Given the description of an element on the screen output the (x, y) to click on. 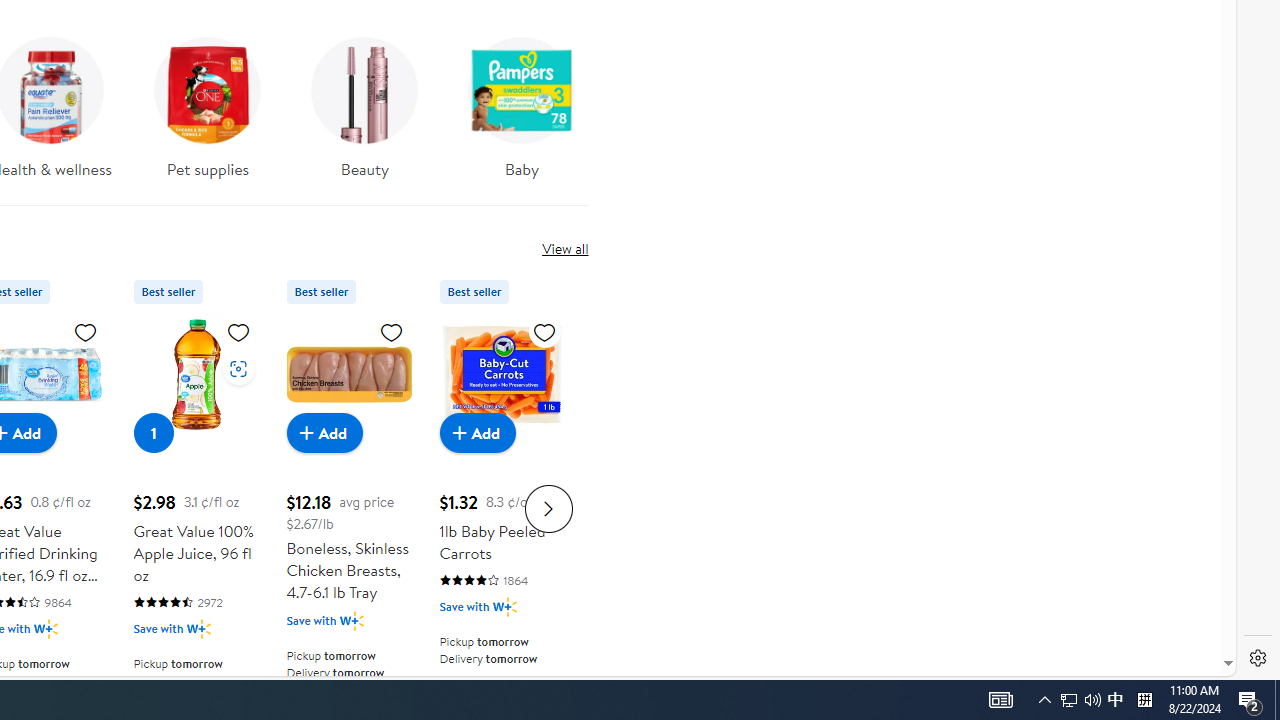
Beauty (365, 101)
Pet supplies (207, 114)
Walmart Plus (504, 606)
Next slide for Product Carousel list (548, 507)
Pet supplies (207, 101)
Boneless, Skinless Chicken Breasts, 4.7-6.1 lb Tray (348, 374)
Baby (521, 101)
Beauty (364, 114)
1lb Baby Peeled Carrots (501, 374)
View all (564, 248)
1 in cart, Great Value 100% Apple Juice, 96 fl oz (153, 431)
Great Value 100% Apple Juice, 96 fl oz (195, 374)
